Given the description of an element on the screen output the (x, y) to click on. 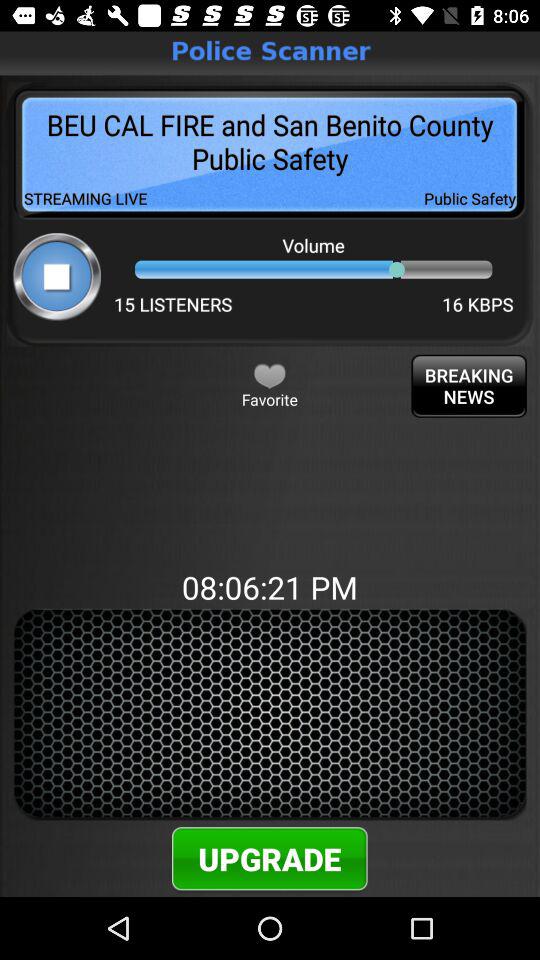
launch the app to the right of favorite item (468, 385)
